Given the description of an element on the screen output the (x, y) to click on. 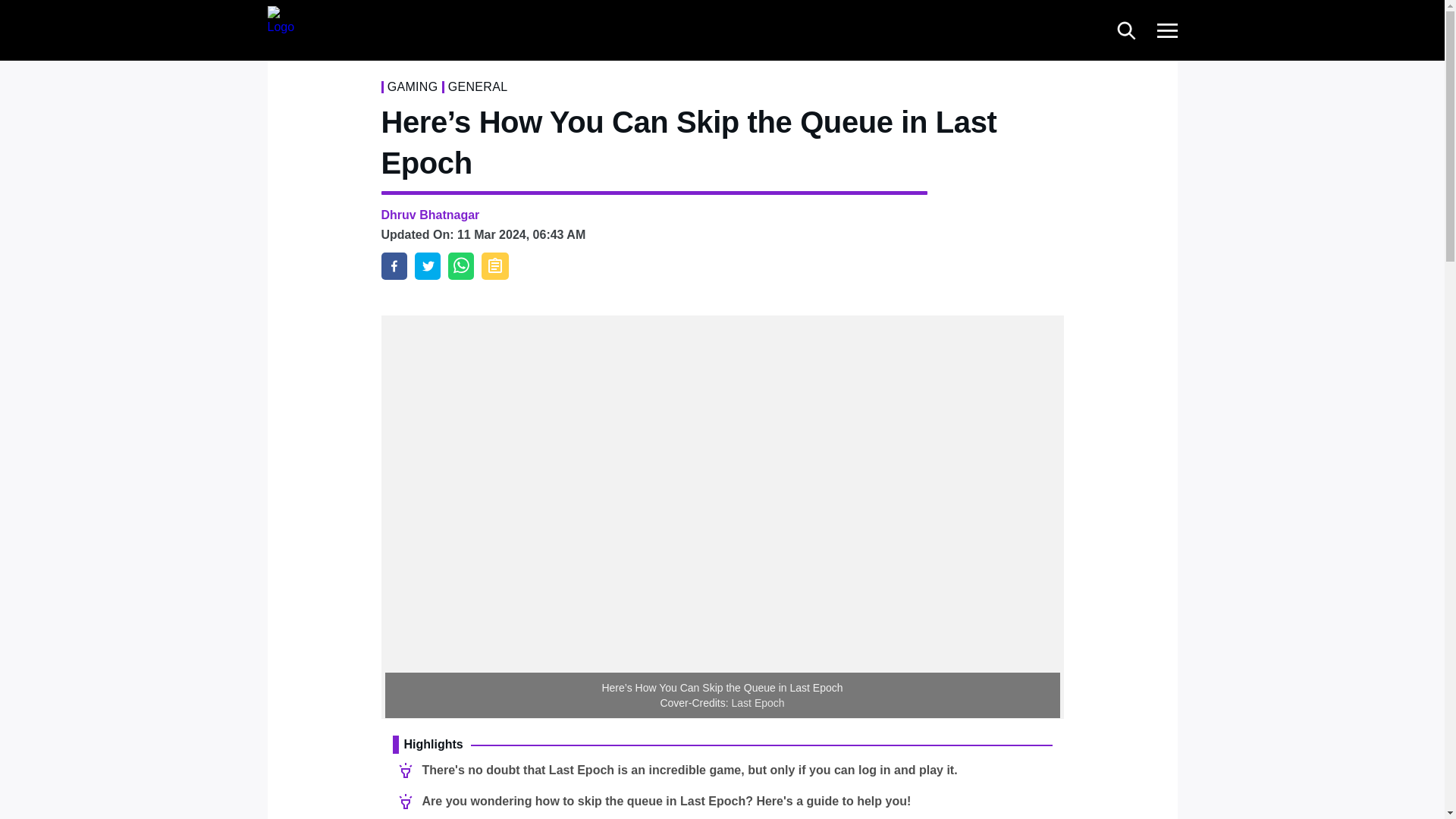
GAMING (412, 87)
GENERAL (478, 87)
Dhruv Bhatnagar (429, 214)
